Given the description of an element on the screen output the (x, y) to click on. 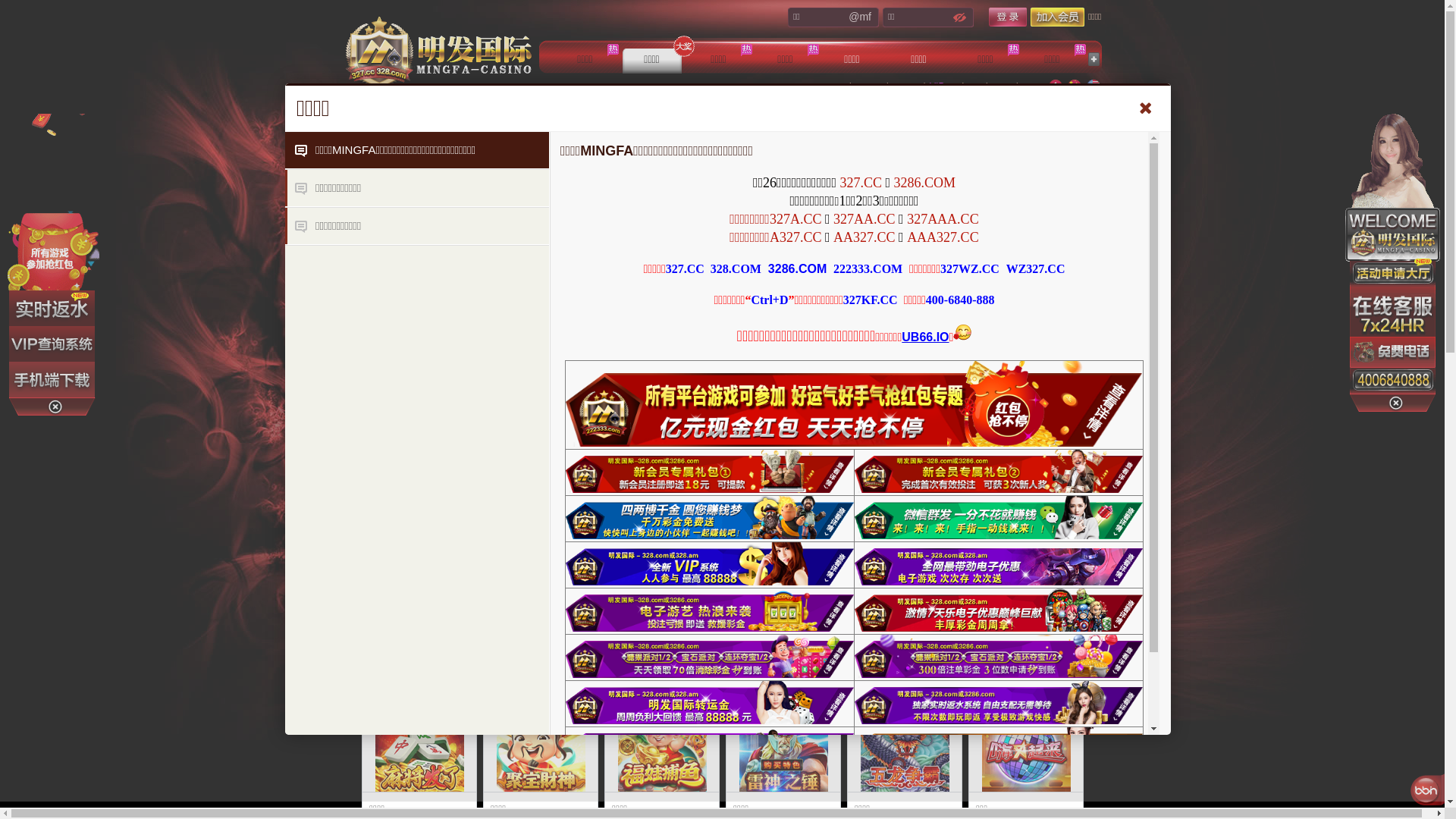
UB66.IO Element type: text (924, 336)
English Element type: hover (1092, 86)
327KF.CC Element type: text (870, 299)
